Given the description of an element on the screen output the (x, y) to click on. 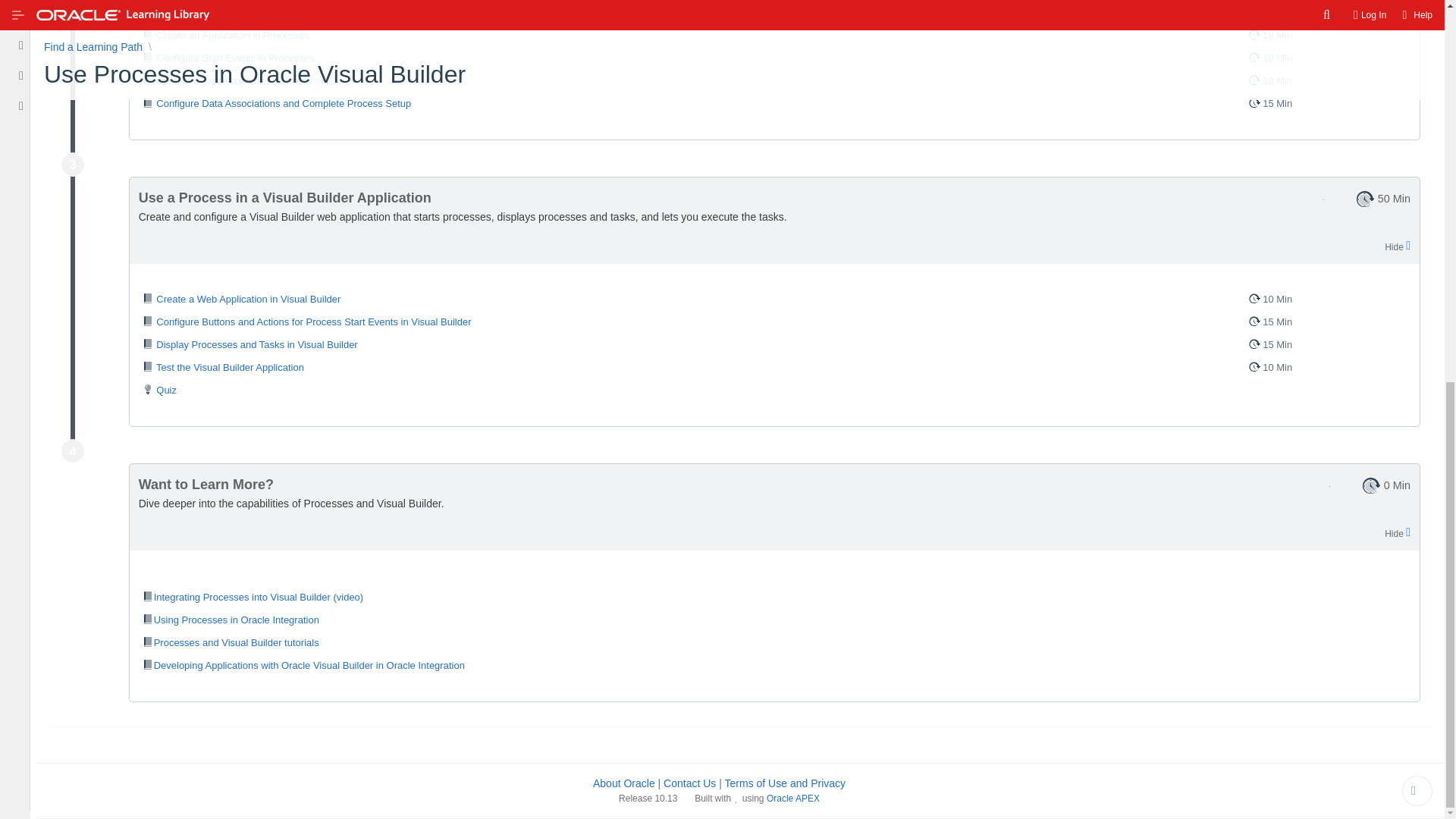
Test the Visual Builder Application 10 Min (774, 367)
Contact Us (689, 783)
About Oracle (623, 783)
Oracle APEX (793, 798)
Using Processes in Oracle Integration (774, 620)
Create a Web Application in Visual Builder 10 Min (774, 299)
Configure Start Events in Processes 10 Min (774, 57)
Start of page (1417, 790)
